Given the description of an element on the screen output the (x, y) to click on. 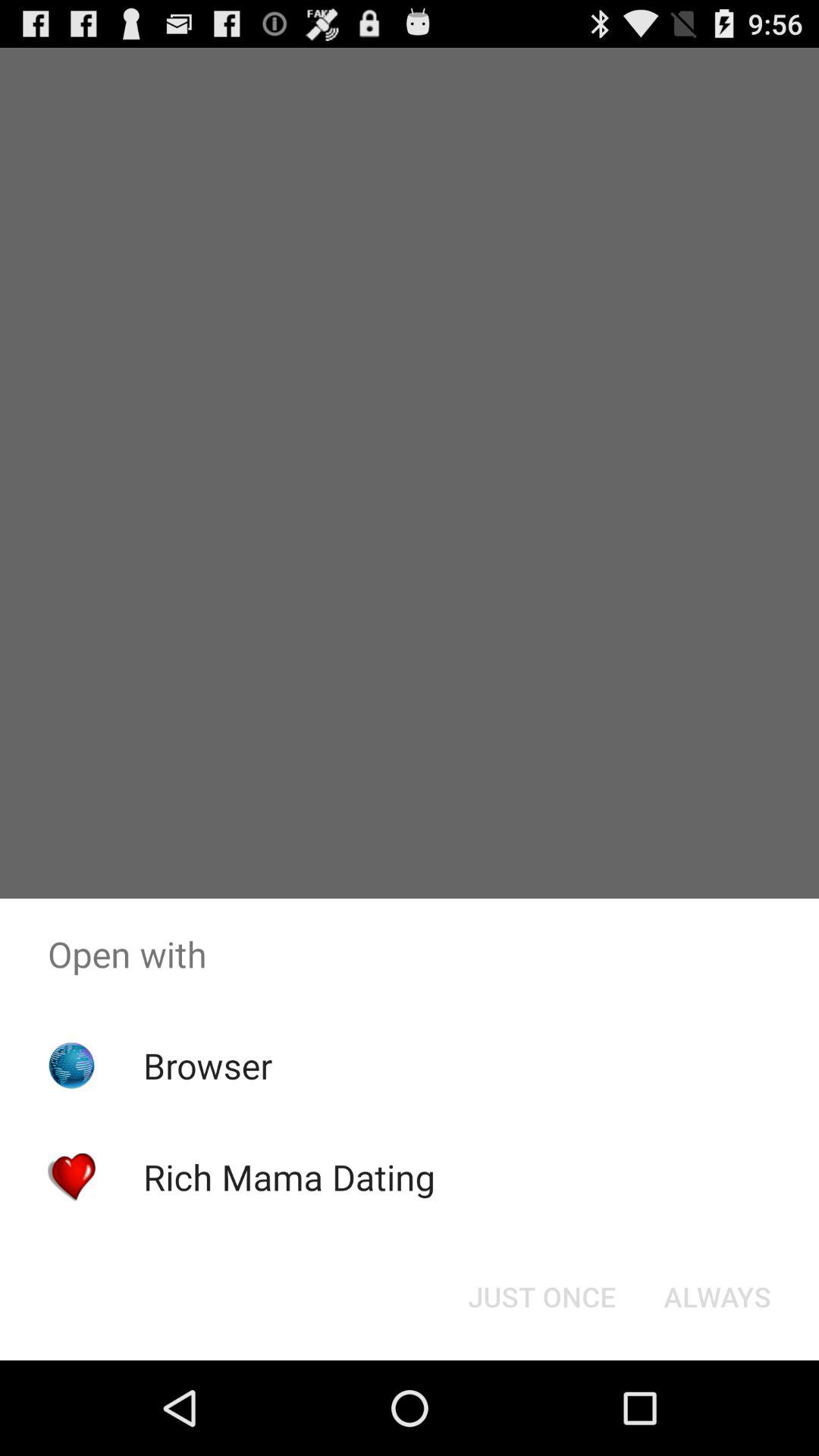
choose the app below open with item (207, 1065)
